Given the description of an element on the screen output the (x, y) to click on. 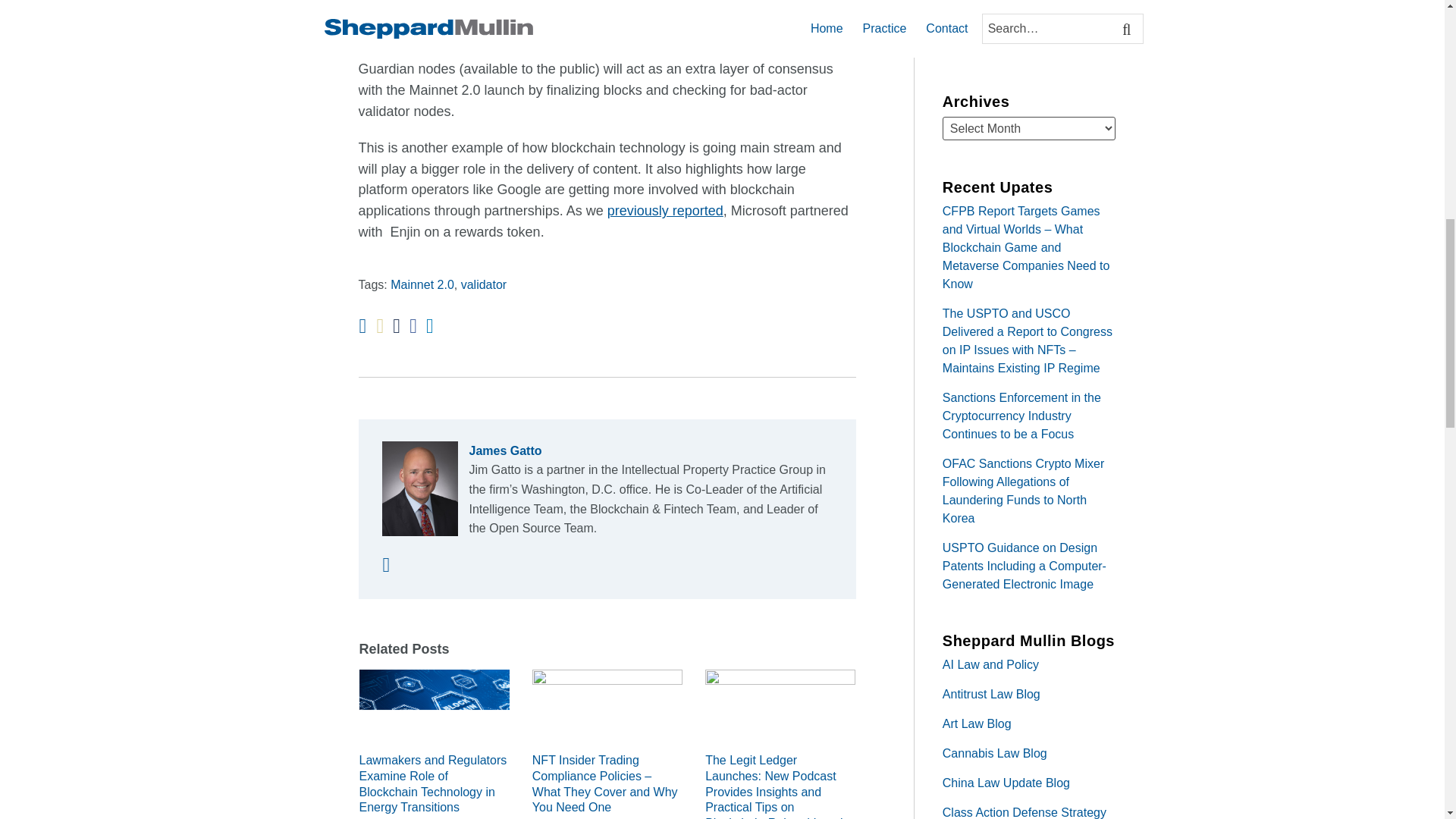
James Gatto (606, 451)
previously reported (665, 210)
validator (483, 284)
Mainnet 2.0 (422, 284)
